Given the description of an element on the screen output the (x, y) to click on. 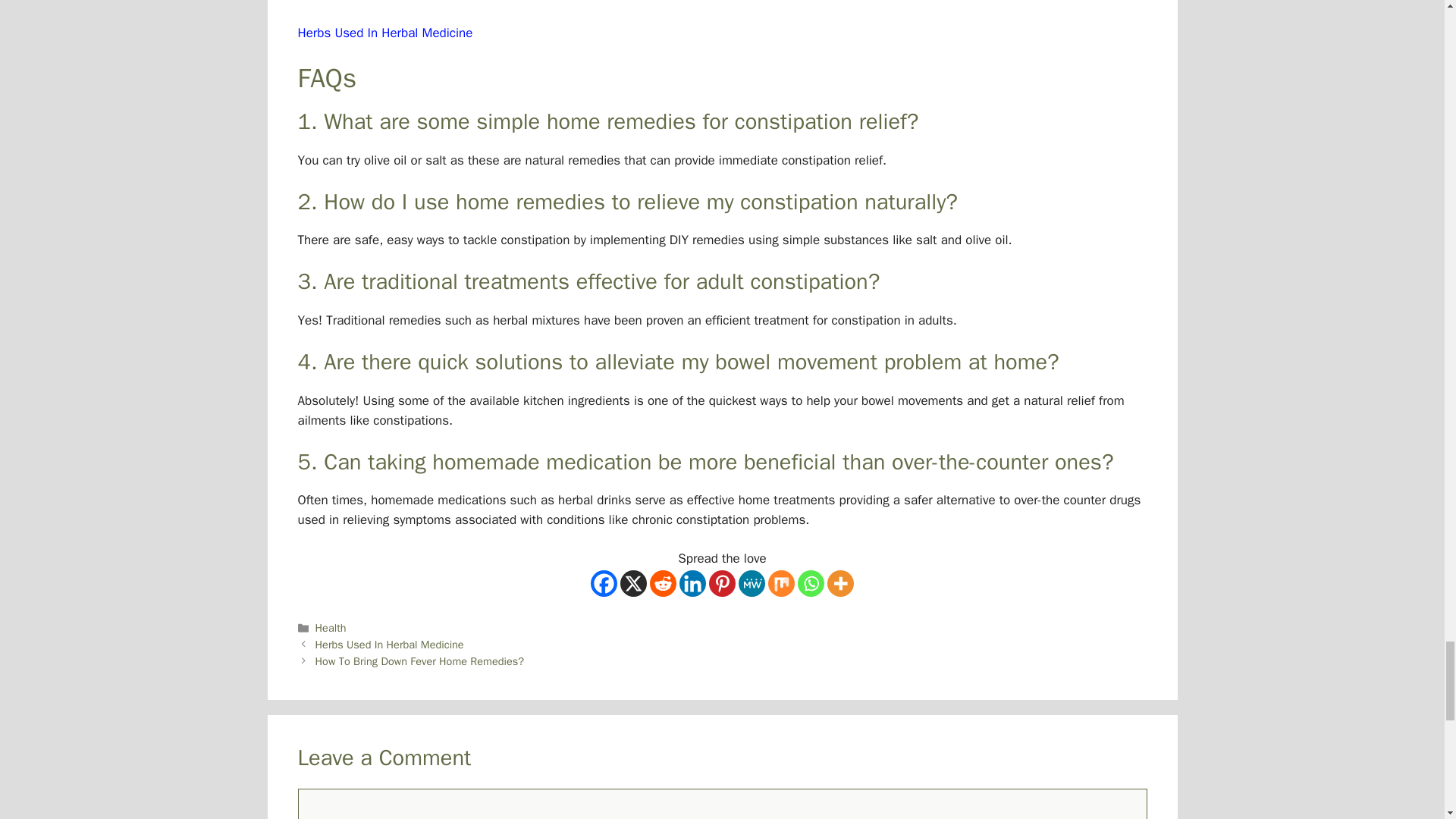
More (840, 583)
Facebook (604, 583)
Linkedin (692, 583)
MeWe (751, 583)
Pinterest (722, 583)
Whatsapp (810, 583)
Herbs Used In Herbal Medicine (384, 32)
X (633, 583)
Home Remedies For Thrush (374, 1)
Mix (781, 583)
Reddit (663, 583)
